Given the description of an element on the screen output the (x, y) to click on. 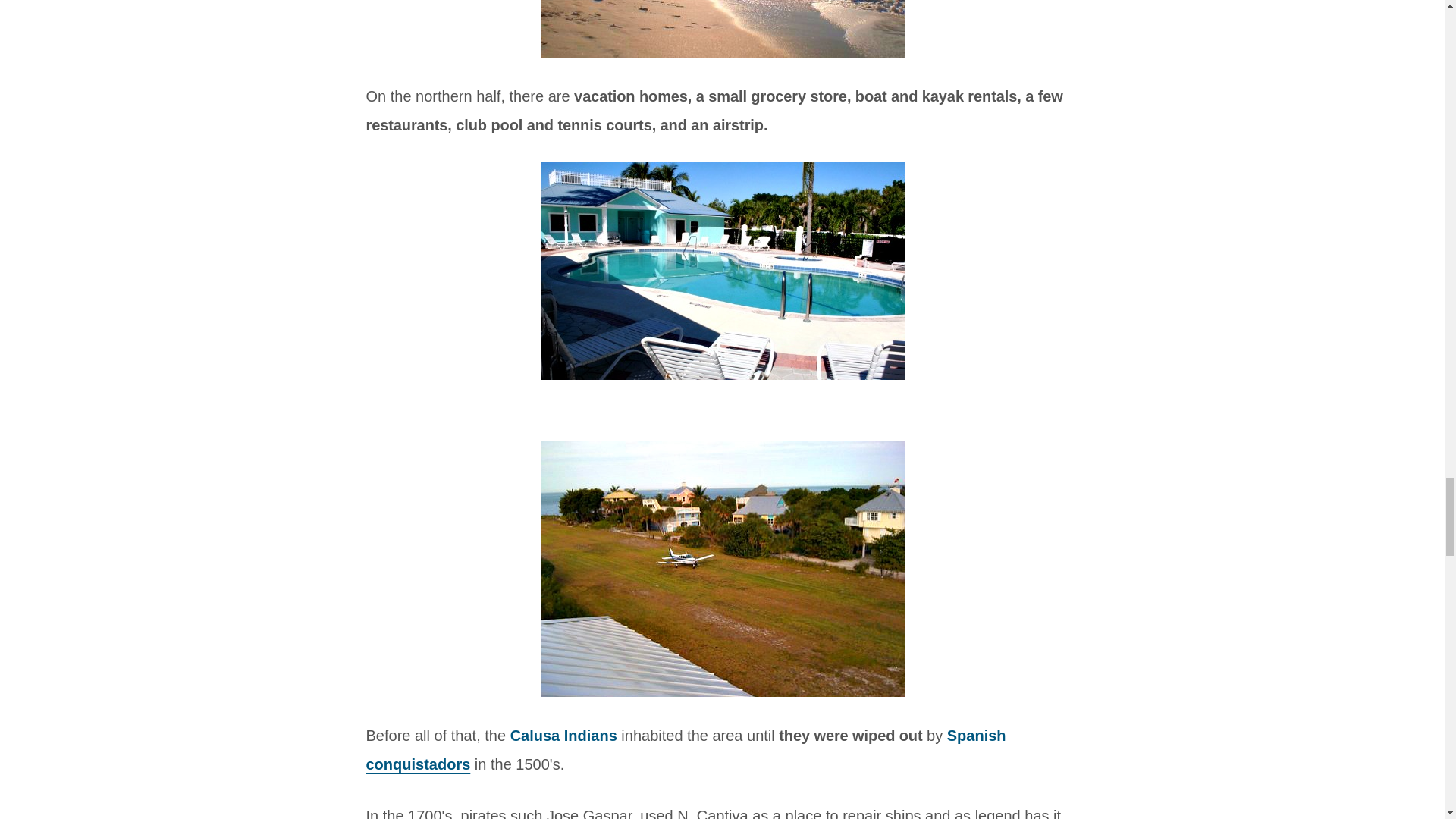
north captiva island rentals (722, 567)
north captiva island club resort (722, 271)
north captiva island (722, 28)
